Given the description of an element on the screen output the (x, y) to click on. 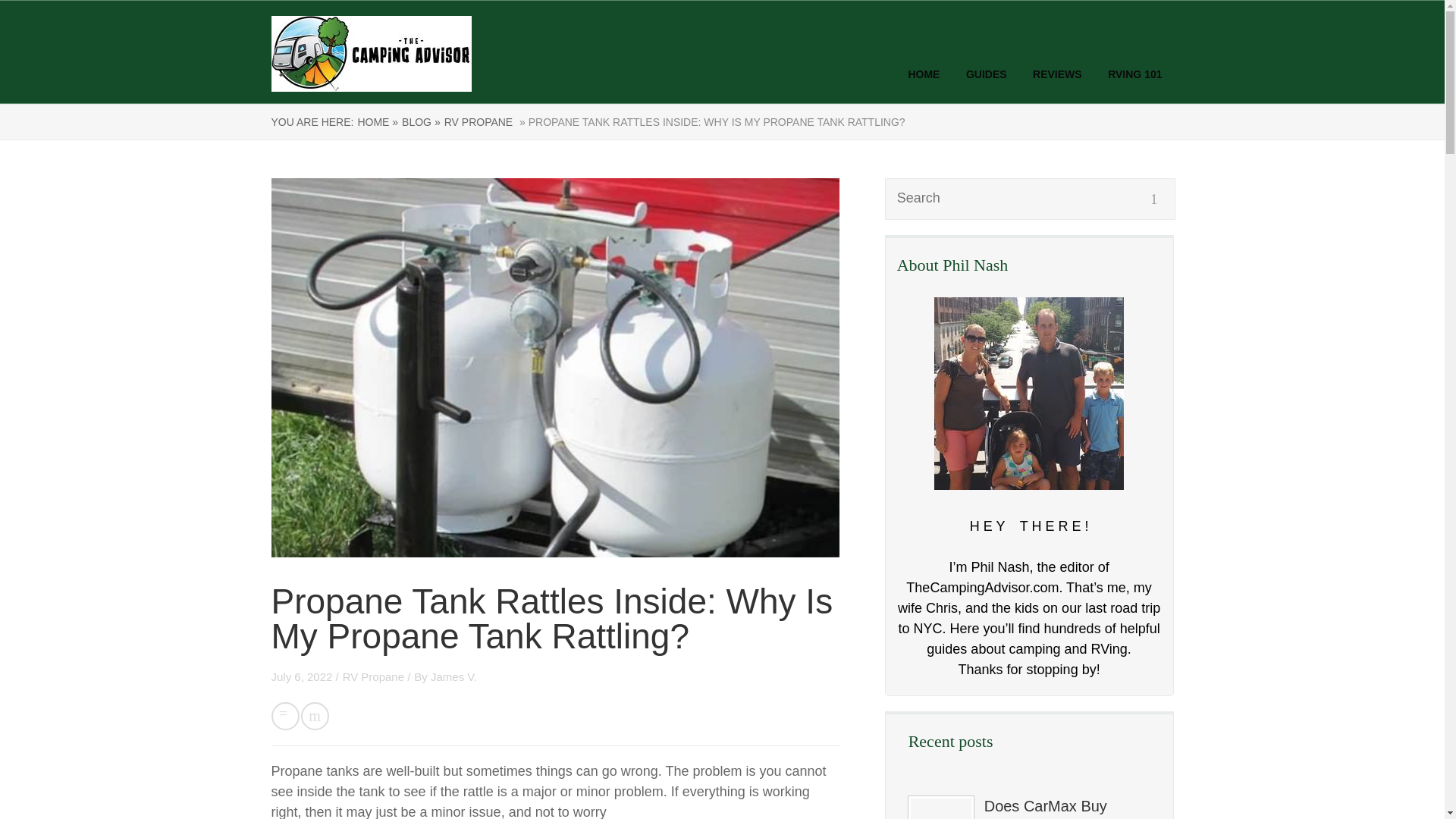
REVIEWS (1056, 73)
RV PROPANE (478, 121)
HOME (923, 73)
RVING 101 (1134, 73)
GUIDES (986, 73)
